Given the description of an element on the screen output the (x, y) to click on. 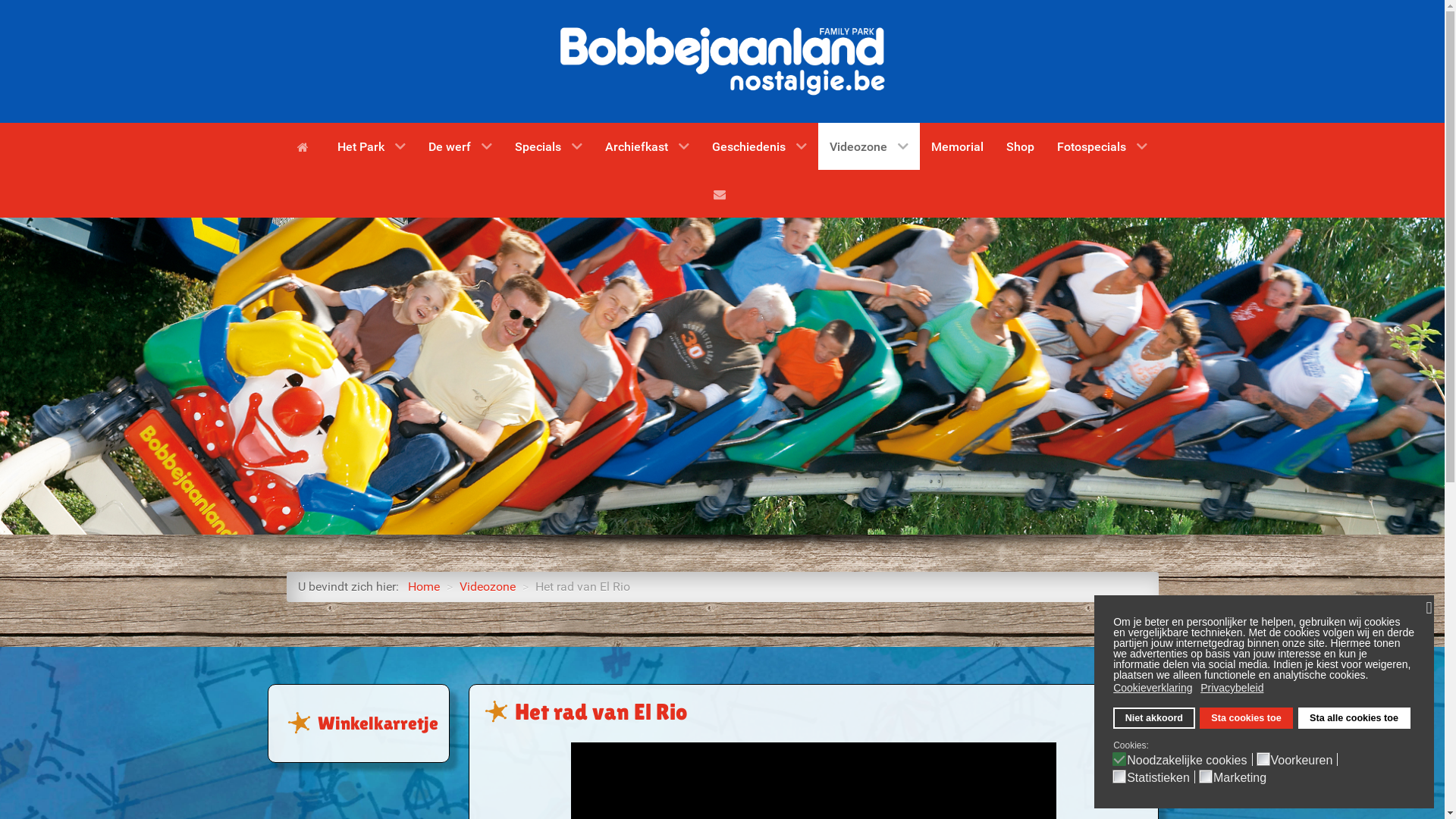
Archiefkast Element type: text (646, 145)
Memorial Element type: text (956, 145)
Bobbejaanland Nostalgie Element type: hover (722, 60)
Videozone Element type: text (487, 586)
Voorkeuren Element type: text (1304, 758)
Videozone Element type: text (868, 145)
Niet akkoord Element type: text (1153, 717)
Sta alle cookies toe Element type: text (1354, 717)
Noodzakelijke cookies Element type: text (1189, 758)
Contact Element type: hover (722, 192)
Het Park Element type: text (371, 145)
De werf Element type: text (460, 145)
Statistieken Element type: text (1160, 776)
Marketing Element type: text (1241, 776)
Shop Element type: text (1019, 145)
Cookieverklaring Element type: text (1153, 687)
Privacybeleid Element type: text (1232, 687)
Specials Element type: text (548, 145)
Home Element type: text (423, 586)
Fotospecials Element type: text (1101, 145)
Home Element type: hover (305, 145)
Sta cookies toe Element type: text (1245, 717)
Geschiedenis Element type: text (759, 145)
